Given the description of an element on the screen output the (x, y) to click on. 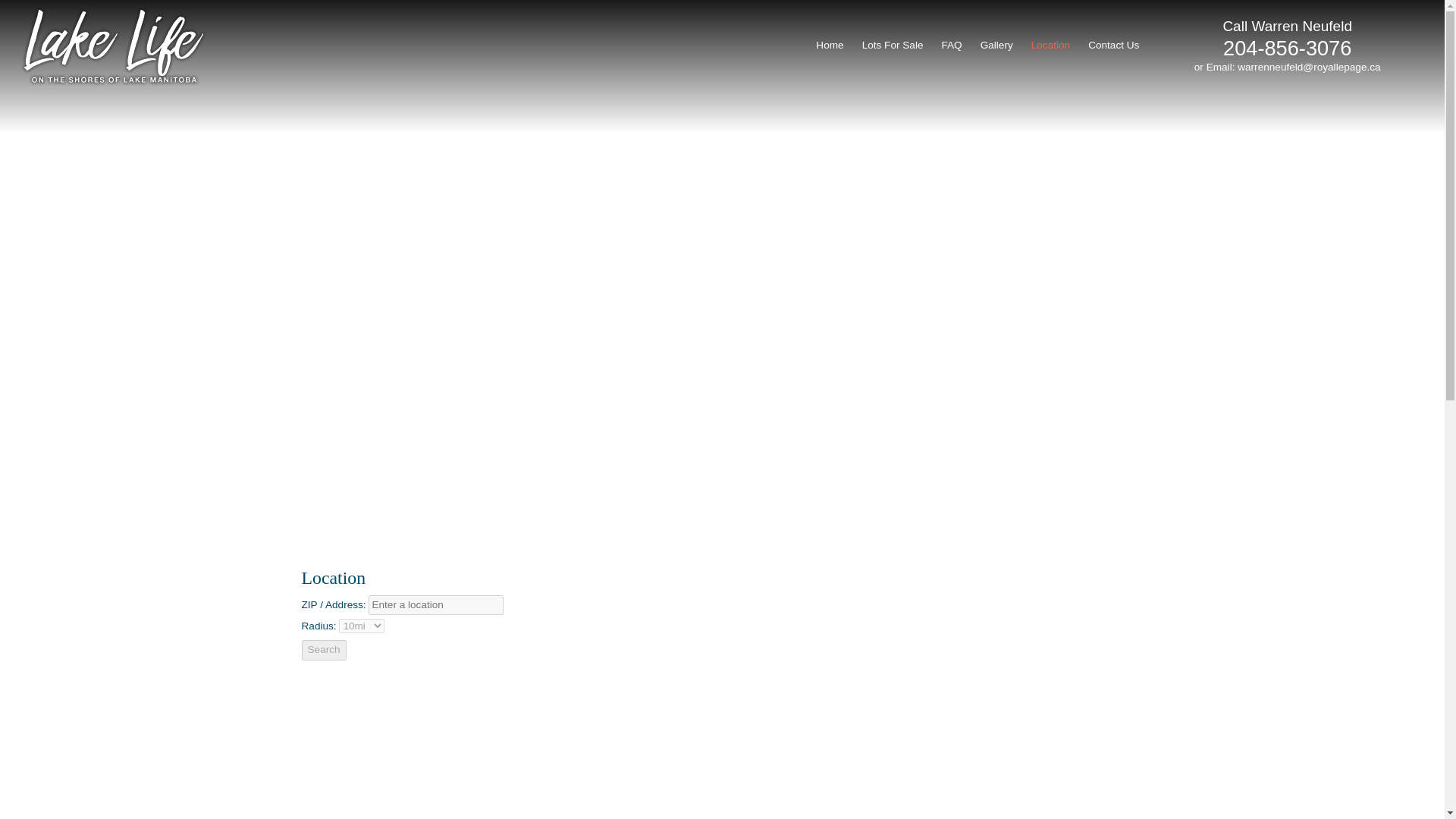
Location (1050, 44)
FAQ (951, 44)
Home (828, 44)
Search (323, 649)
Lots For Sale (893, 44)
Home (828, 44)
204-856-3076 (1287, 47)
Gallery (996, 44)
Contact Us (1113, 44)
Search (323, 649)
